Given the description of an element on the screen output the (x, y) to click on. 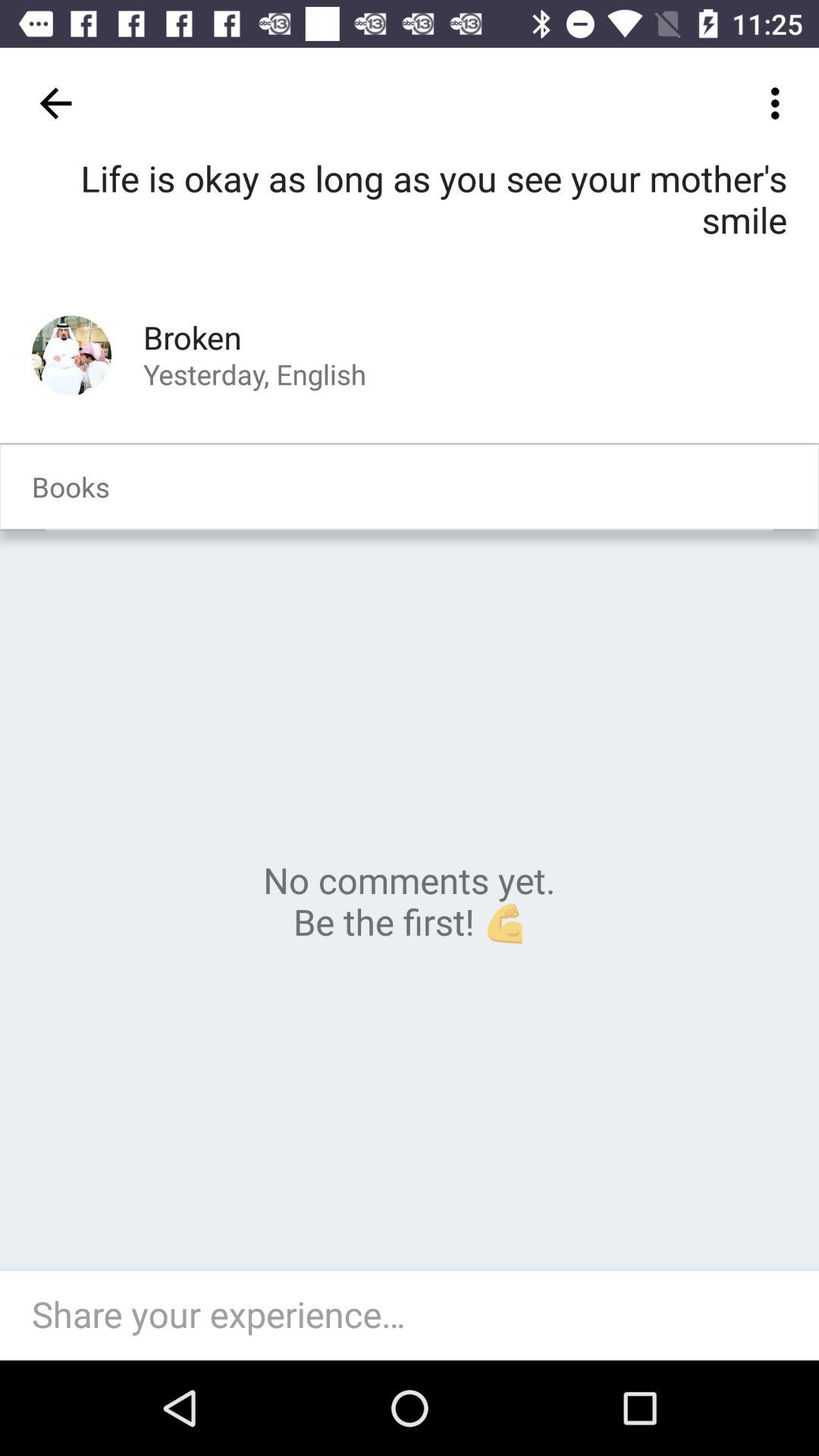
click the life is okay icon (409, 221)
